Given the description of an element on the screen output the (x, y) to click on. 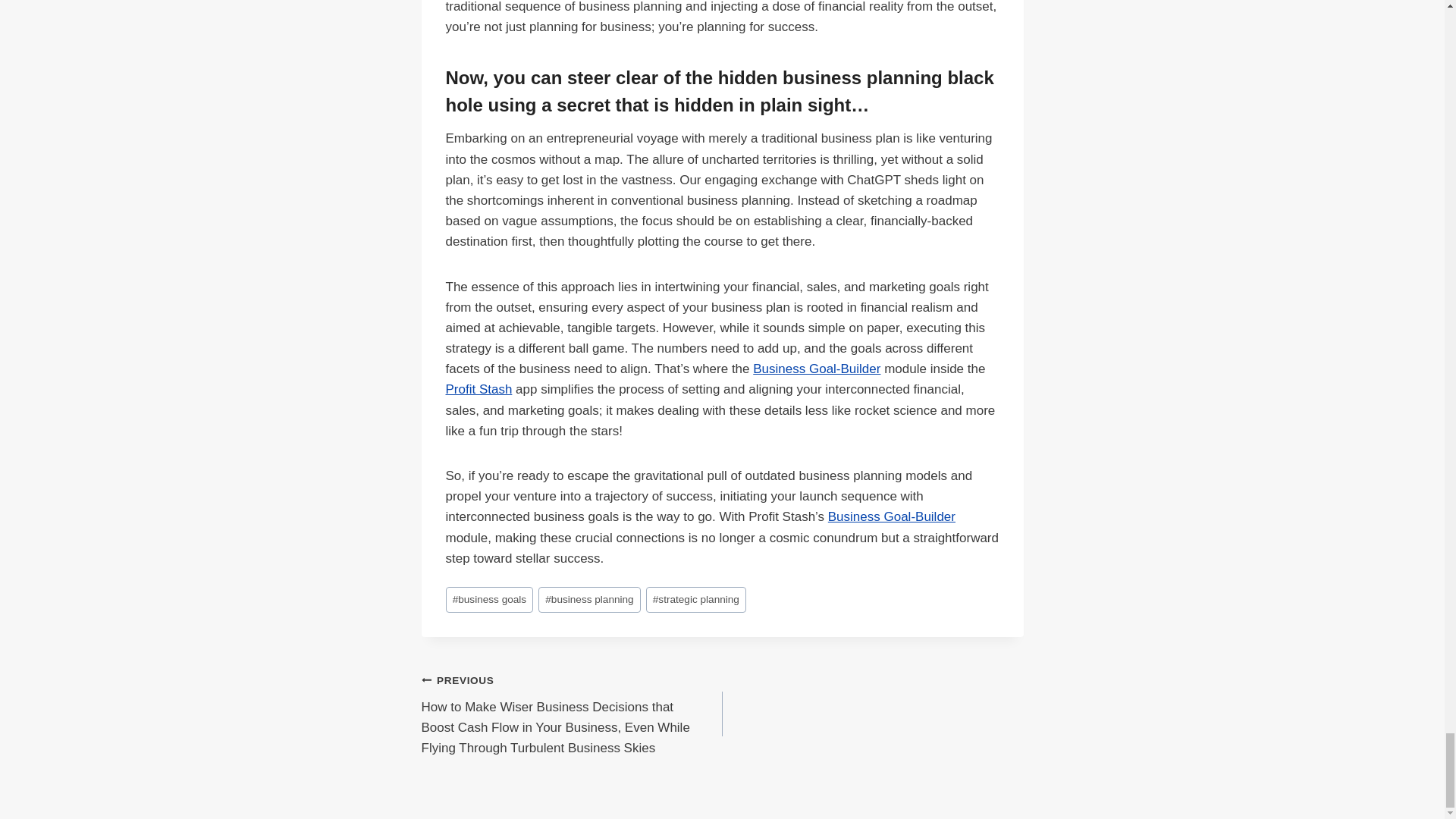
business goals (489, 600)
business planning (589, 600)
Business Goal-Builder (816, 368)
Business Goal-Builder (891, 516)
Profit Stash (478, 389)
strategic planning (695, 600)
